Given the description of an element on the screen output the (x, y) to click on. 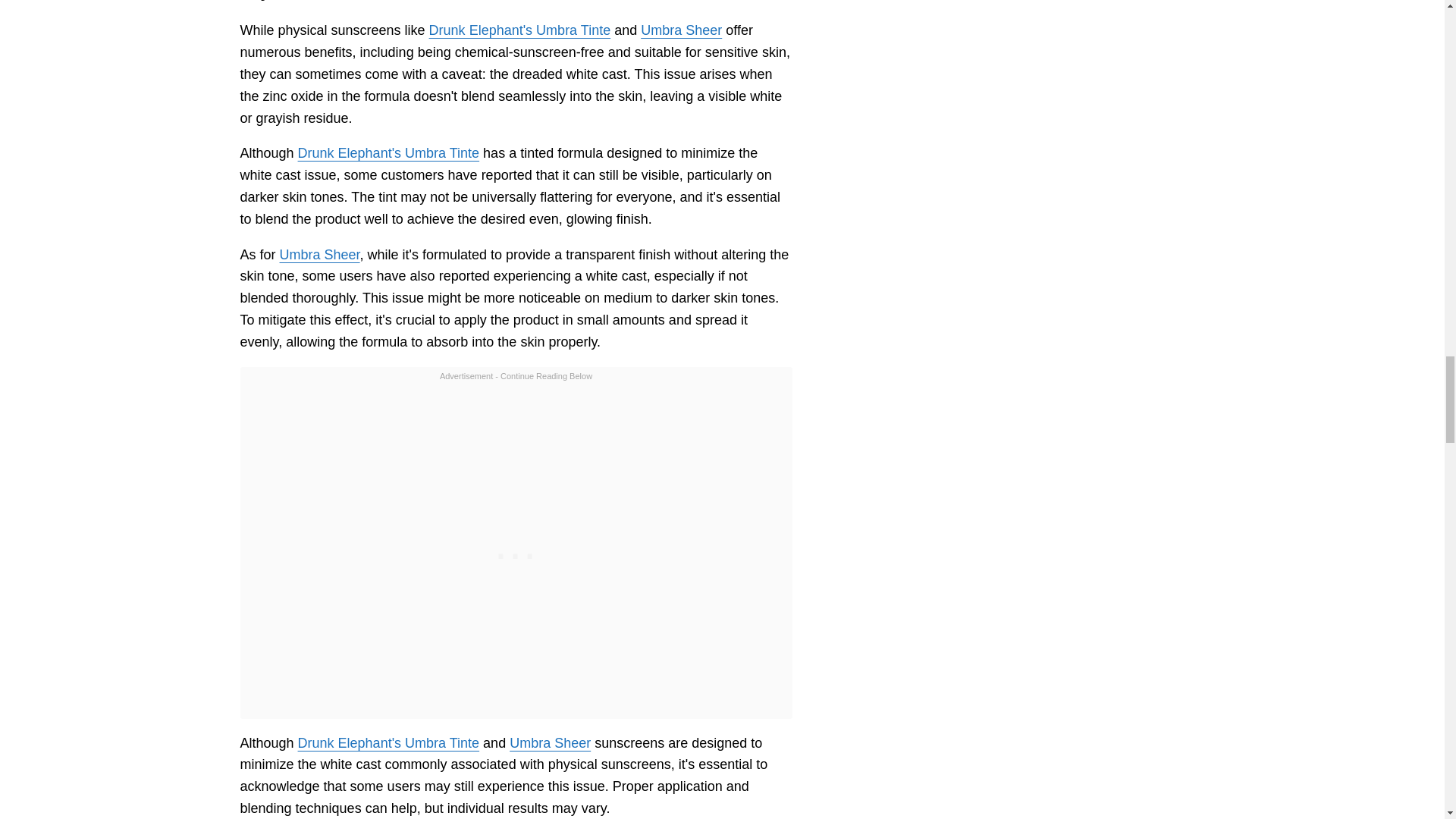
Drunk Elephant's Umbra Tinte (520, 29)
Umbra Sheer (550, 743)
Drunk Elephant's Umbra Tinte (389, 743)
Drunk Elephant's Umbra Tinte (389, 152)
Umbra Sheer (319, 254)
Umbra Sheer (681, 29)
